Given the description of an element on the screen output the (x, y) to click on. 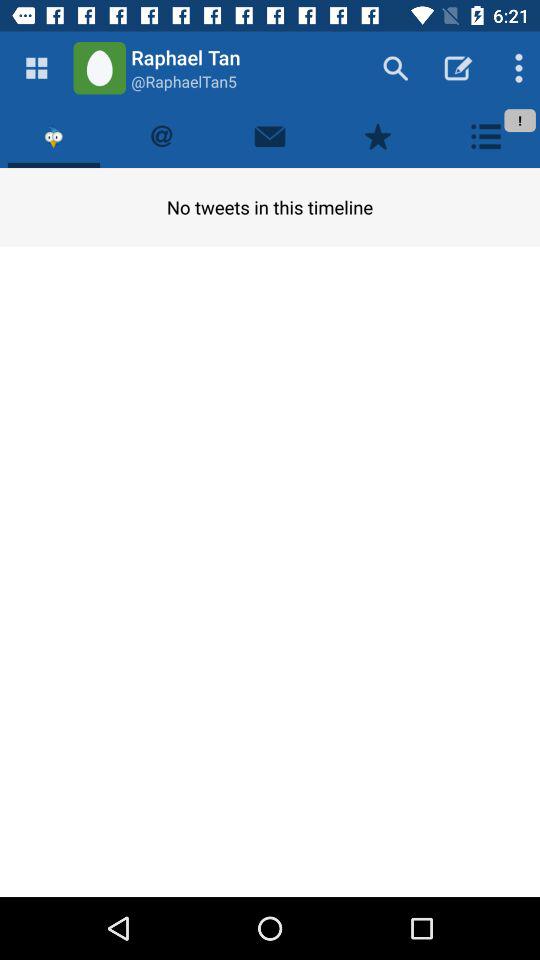
select item above no tweets in item (54, 136)
